Given the description of an element on the screen output the (x, y) to click on. 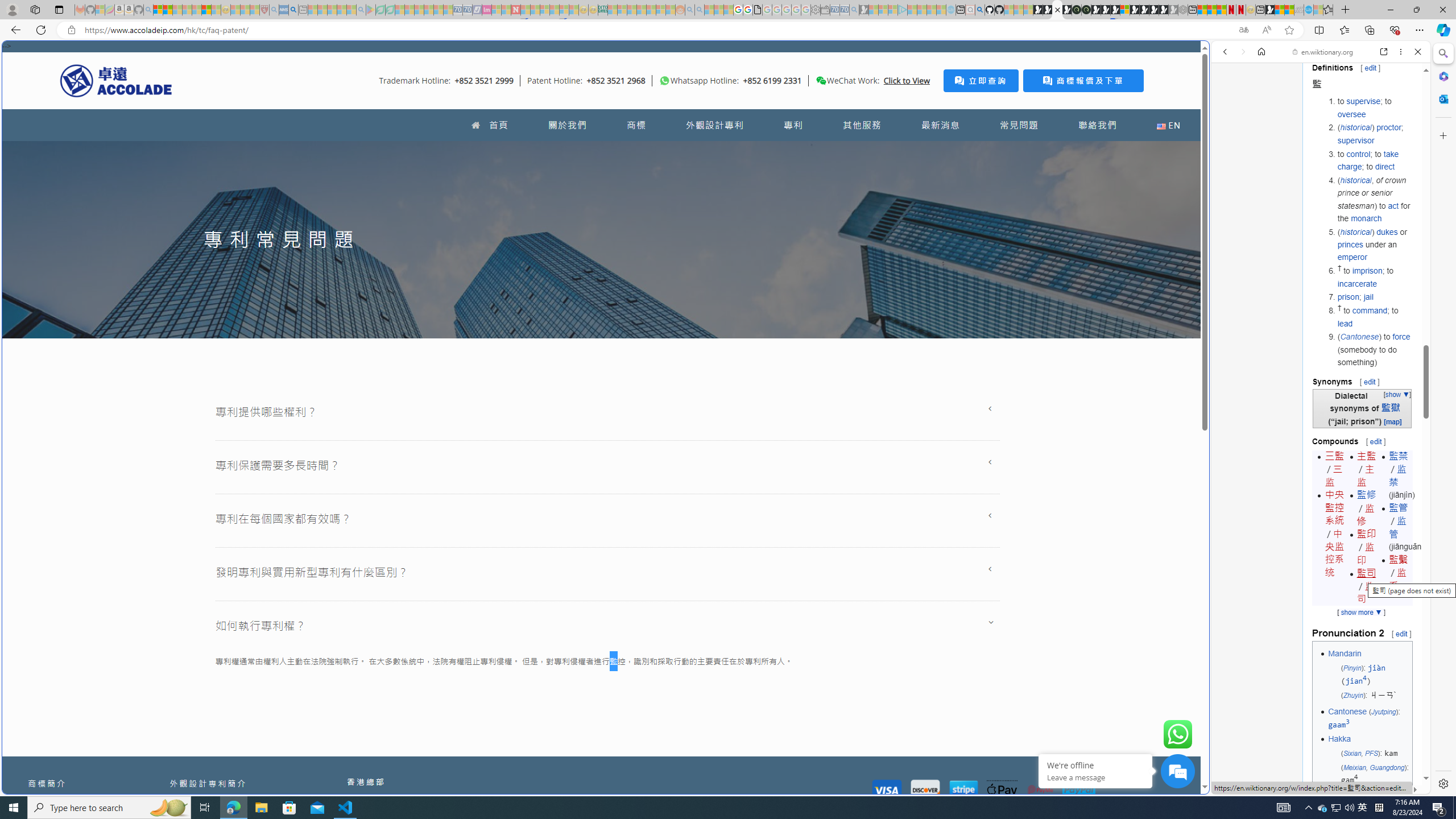
utah sues federal government - Search (292, 9)
New tab (1259, 9)
(Cantonese) to force(somebody to do something) (1374, 349)
